Given the description of an element on the screen output the (x, y) to click on. 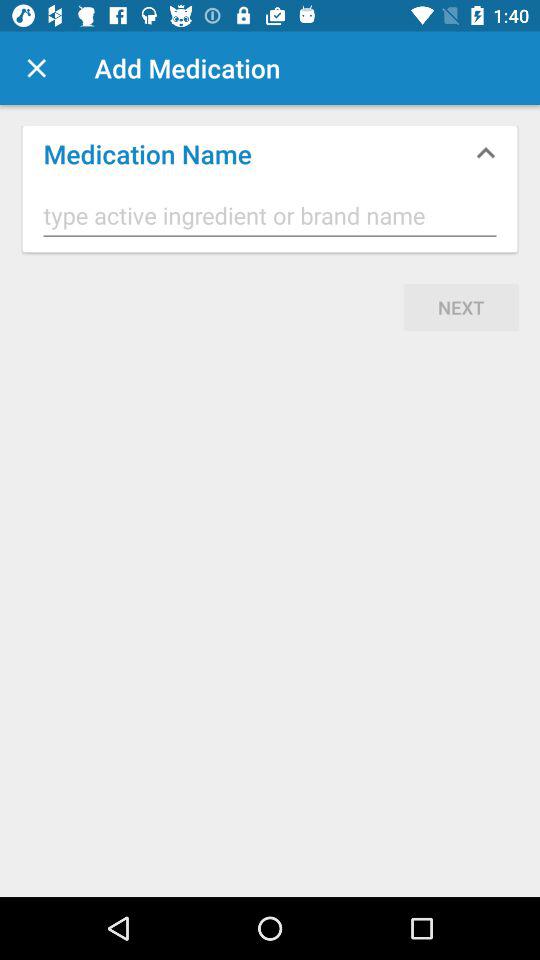
close page (36, 68)
